Given the description of an element on the screen output the (x, y) to click on. 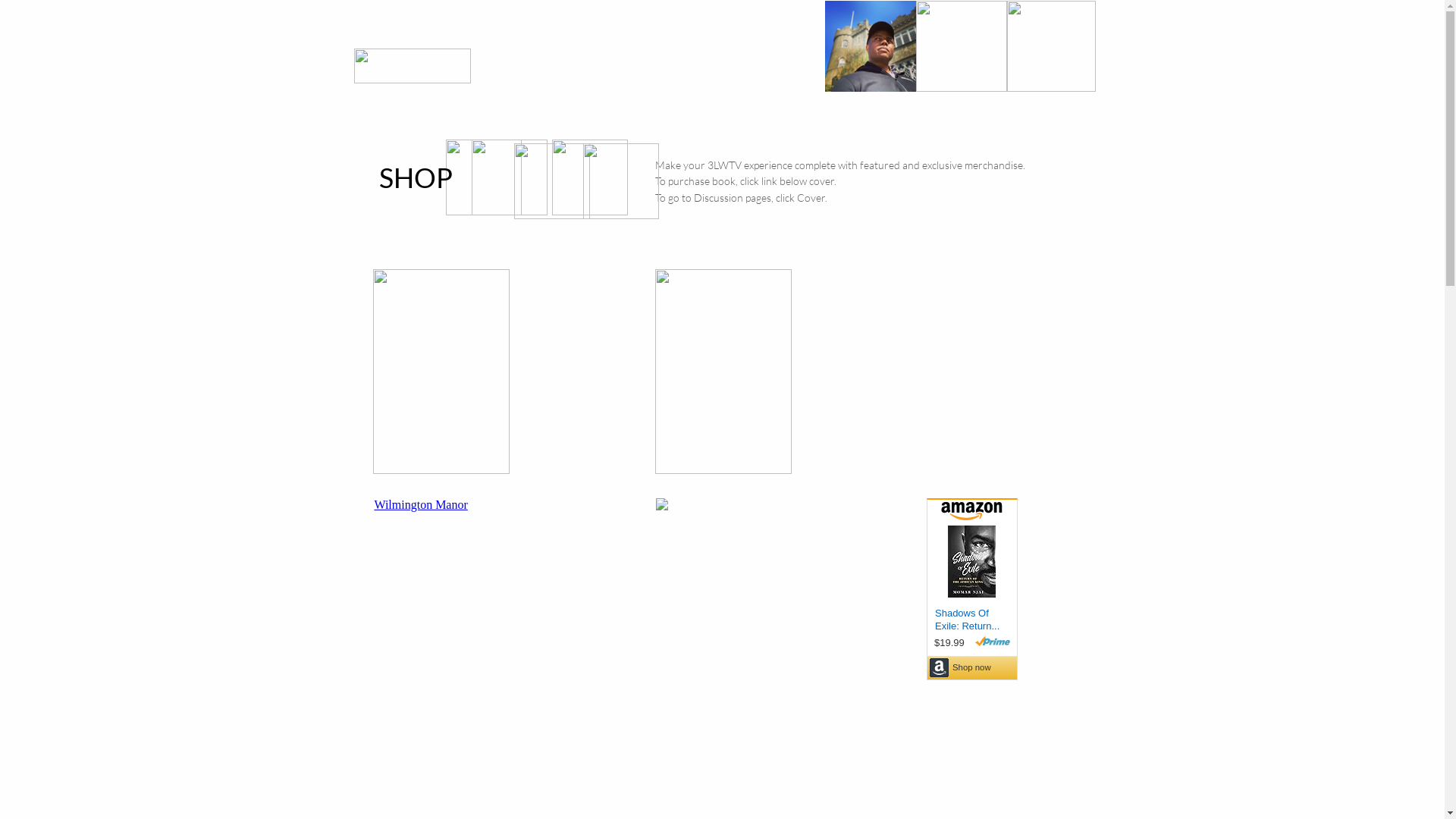
about your host Element type: text (1015, 119)
Wilmington Manor Element type: text (420, 504)
shop Element type: text (955, 119)
social | media Element type: text (901, 119)
book club Element type: text (707, 119)
home Element type: text (623, 119)
tv Element type: text (661, 119)
guest contributors Element type: text (818, 119)
legal Element type: text (1076, 119)
travel Element type: text (752, 119)
